Given the description of an element on the screen output the (x, y) to click on. 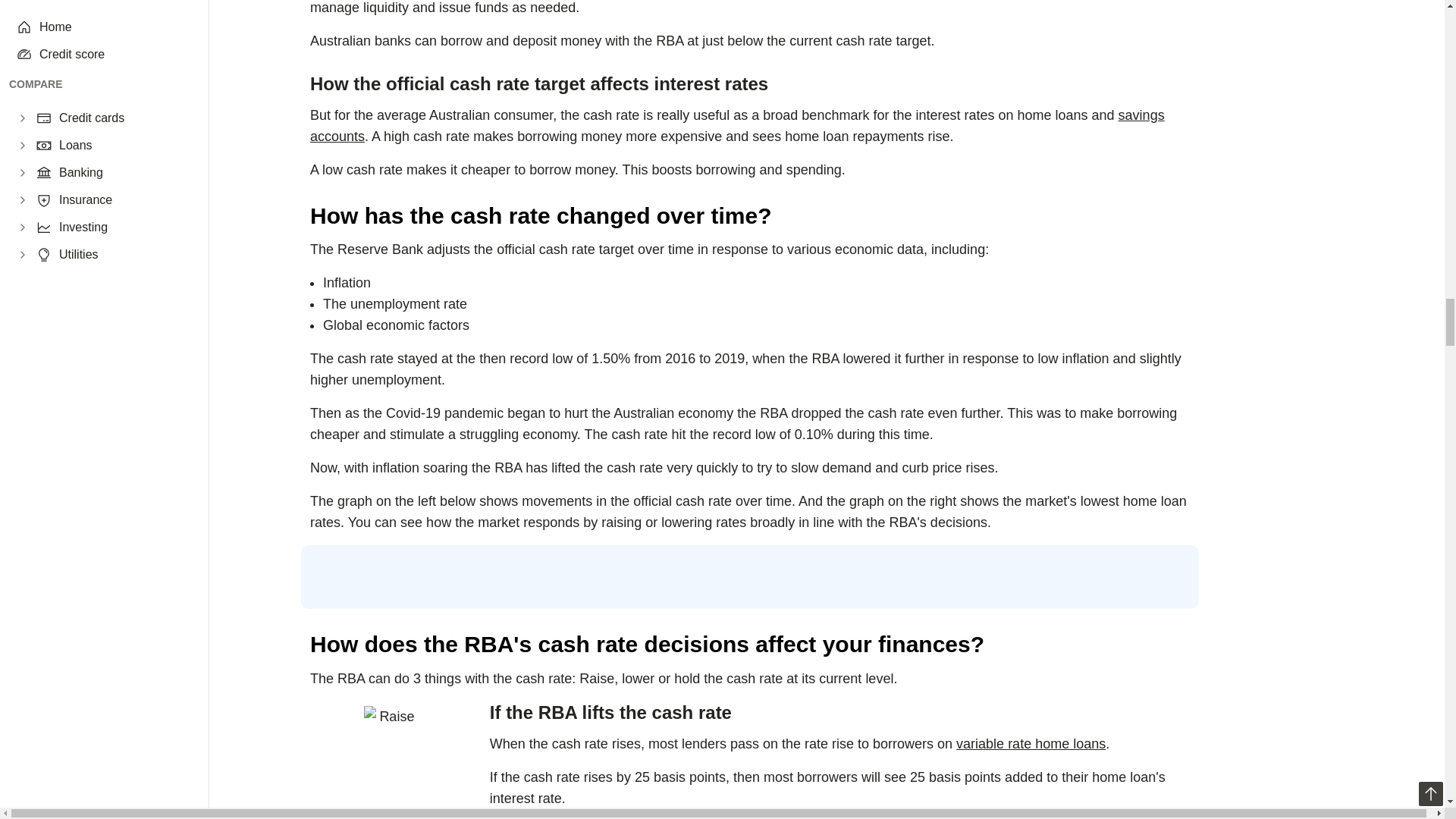
Icon from www.flaticon.com (390, 732)
